Given the description of an element on the screen output the (x, y) to click on. 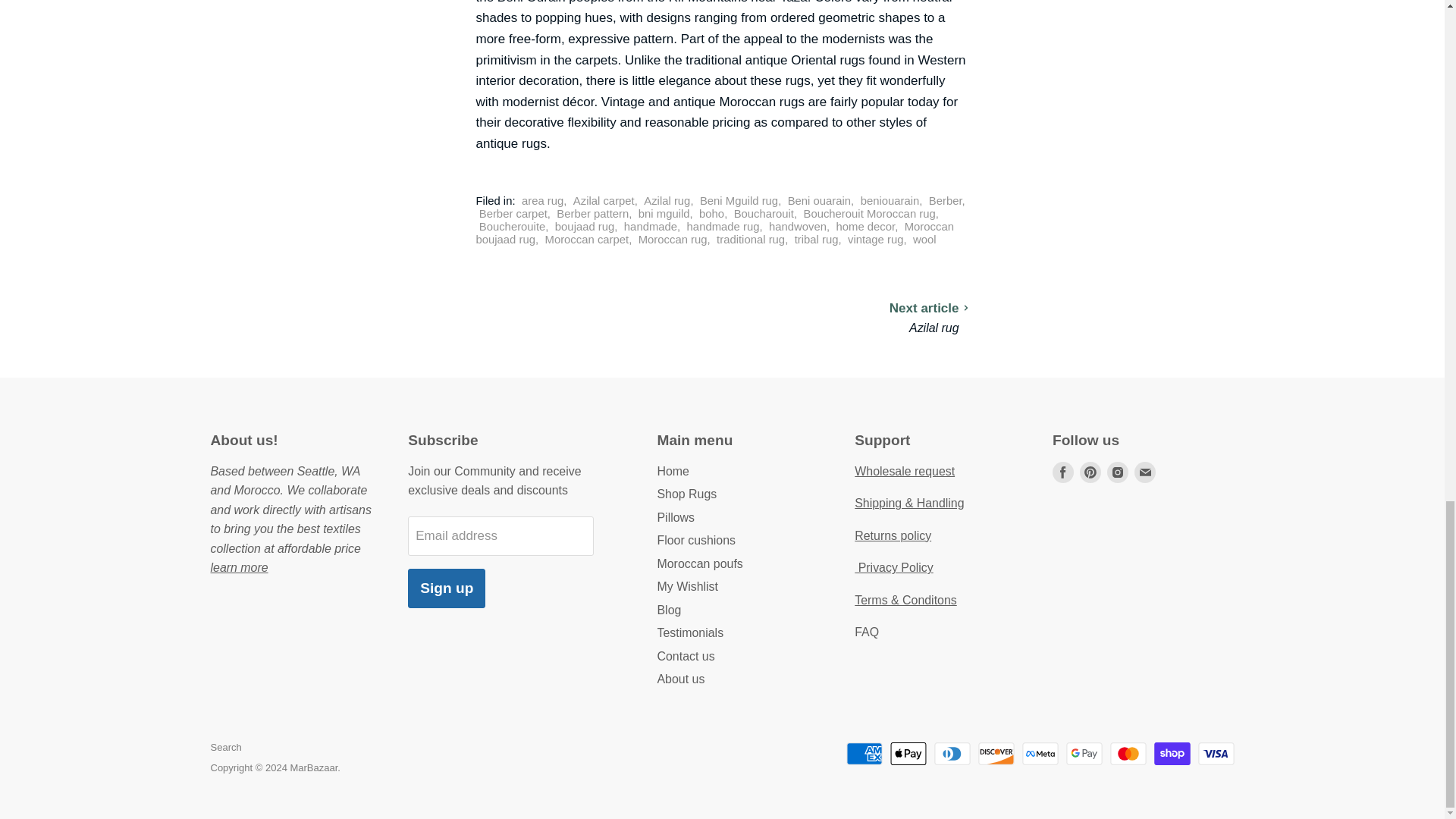
Meta Pay (1040, 753)
Show articles tagged boujaad rug (584, 226)
Show articles tagged area rug (542, 200)
Diners Club (952, 753)
Show articles tagged Boucherouit Moroccan rug (868, 214)
Show articles tagged handwoven (797, 226)
Show articles tagged Azilal carpet (603, 200)
Show articles tagged beniouarain (890, 200)
Show articles tagged Boucharouit (763, 214)
Show articles tagged bni mguild (664, 214)
